Given the description of an element on the screen output the (x, y) to click on. 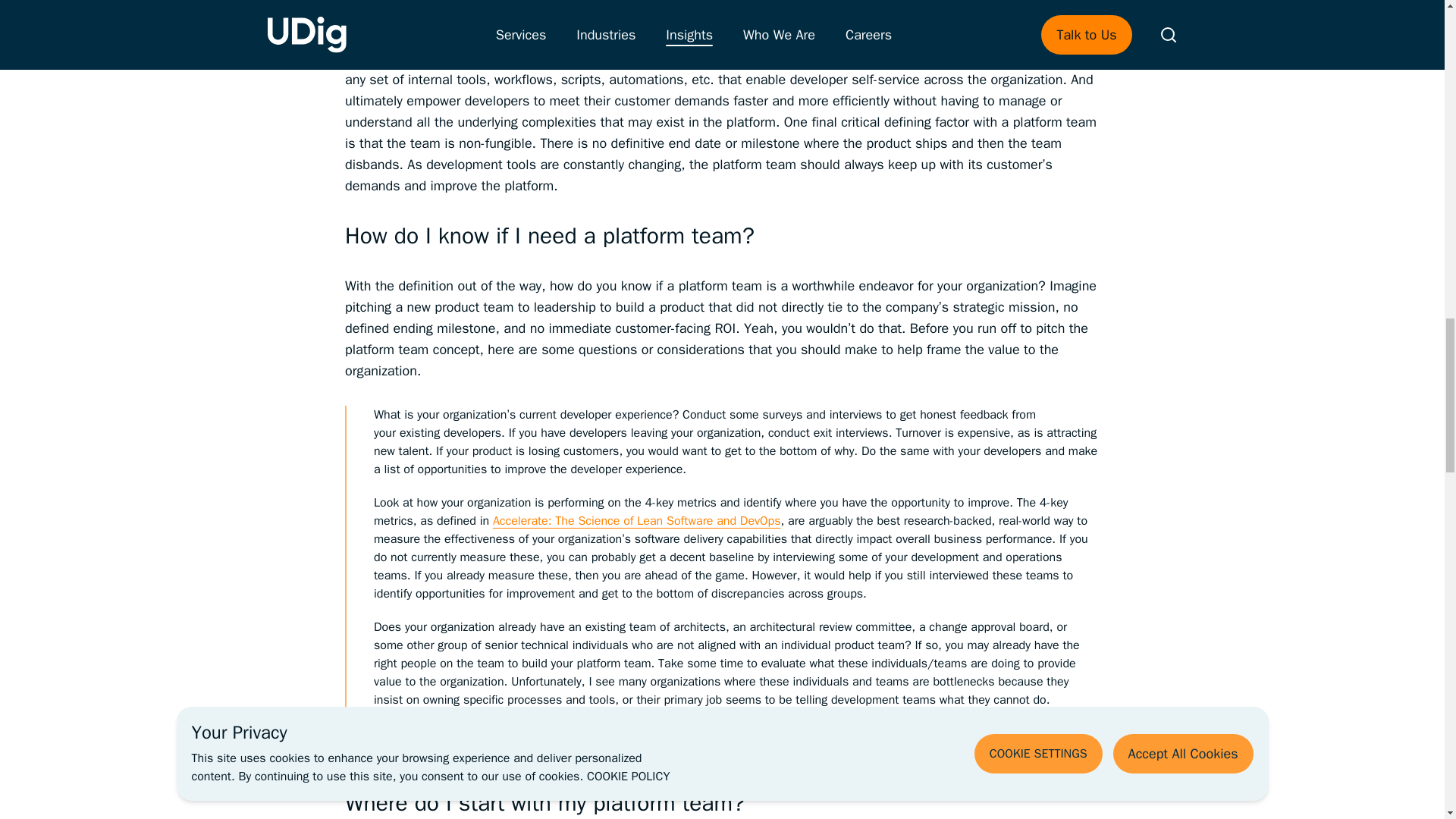
Accelerate: The Science of Lean Software and DevOps (636, 520)
